Given the description of an element on the screen output the (x, y) to click on. 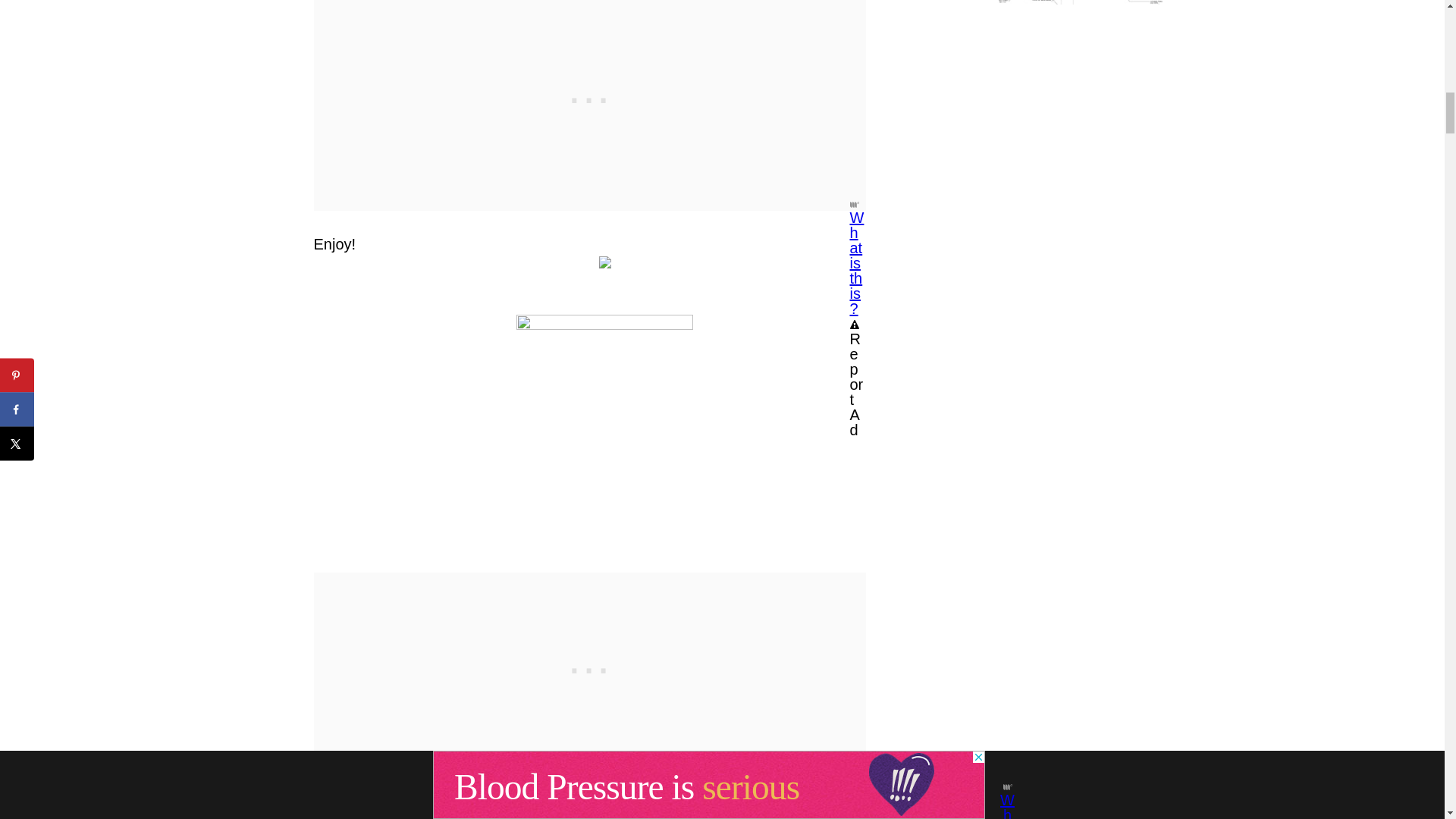
3rd party ad content (589, 667)
